Given the description of an element on the screen output the (x, y) to click on. 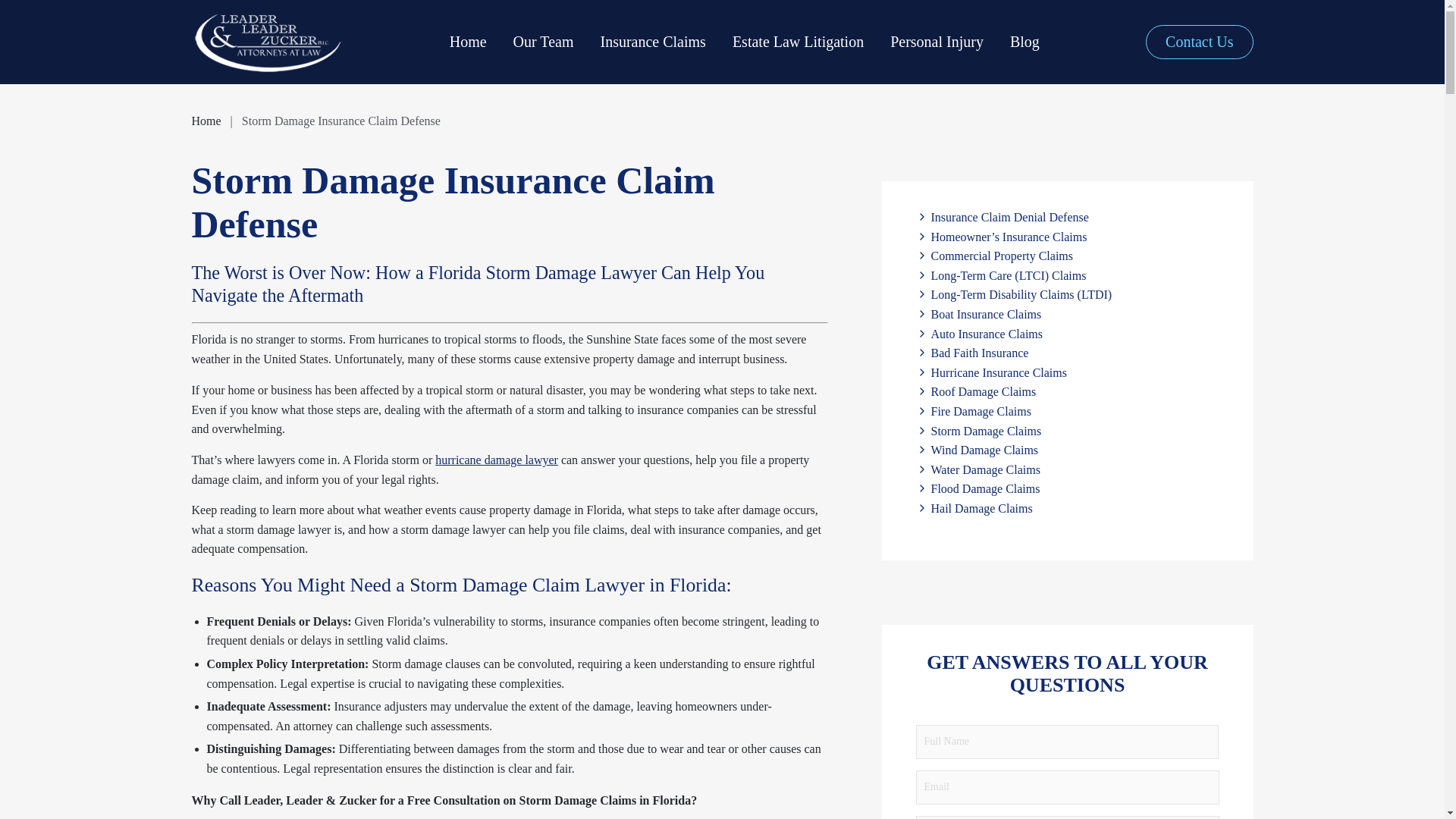
Estate Law Litigation (797, 41)
Personal Injury (936, 41)
Home (467, 41)
Our Team (543, 41)
Insurance Claims (651, 41)
